Given the description of an element on the screen output the (x, y) to click on. 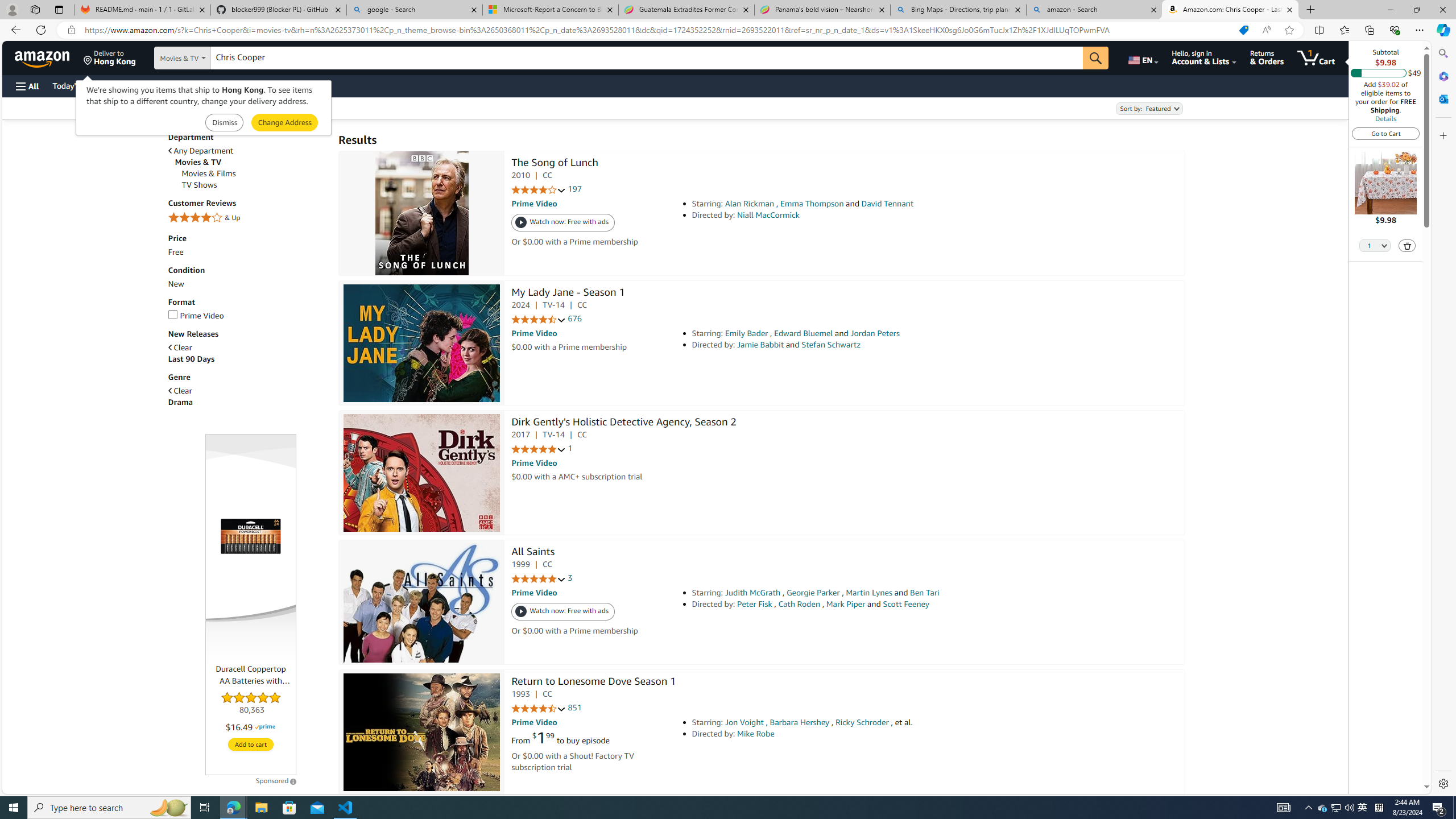
4.8 out of 5 stars. (250, 703)
4 Stars & Up& Up (247, 218)
Add to cart (250, 744)
Drama (180, 402)
Emily Bader (746, 333)
Go to Cart (1385, 133)
Jon Voight (744, 722)
Watch now: Free with ads (563, 611)
Prime Video (195, 315)
All Saints (532, 552)
Open Menu (26, 86)
Search in (210, 58)
Scott Feeney (905, 603)
